Given the description of an element on the screen output the (x, y) to click on. 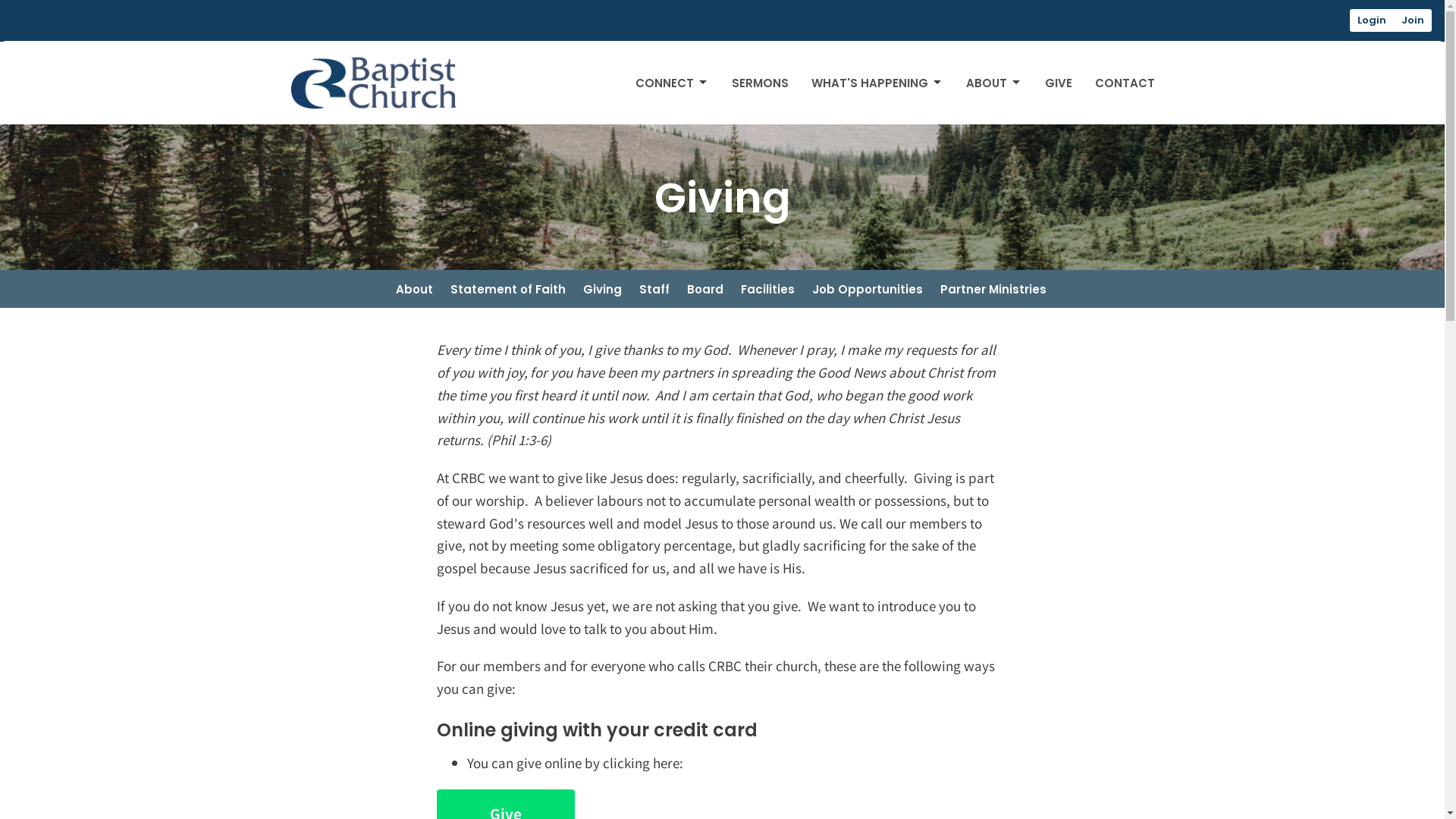
GIVE Element type: text (1058, 82)
WHAT'S HAPPENING Element type: text (877, 82)
Giving Element type: text (601, 288)
Staff Element type: text (653, 288)
Login Element type: text (1371, 20)
Board Element type: text (704, 288)
Partner Ministries Element type: text (993, 288)
Job Opportunities Element type: text (866, 288)
CONNECT Element type: text (672, 82)
SERMONS Element type: text (759, 82)
Facilities Element type: text (767, 288)
Join Element type: text (1412, 20)
About Element type: text (414, 288)
Statement of Faith Element type: text (507, 288)
CONTACT Element type: text (1124, 82)
ABOUT Element type: text (994, 82)
